Given the description of an element on the screen output the (x, y) to click on. 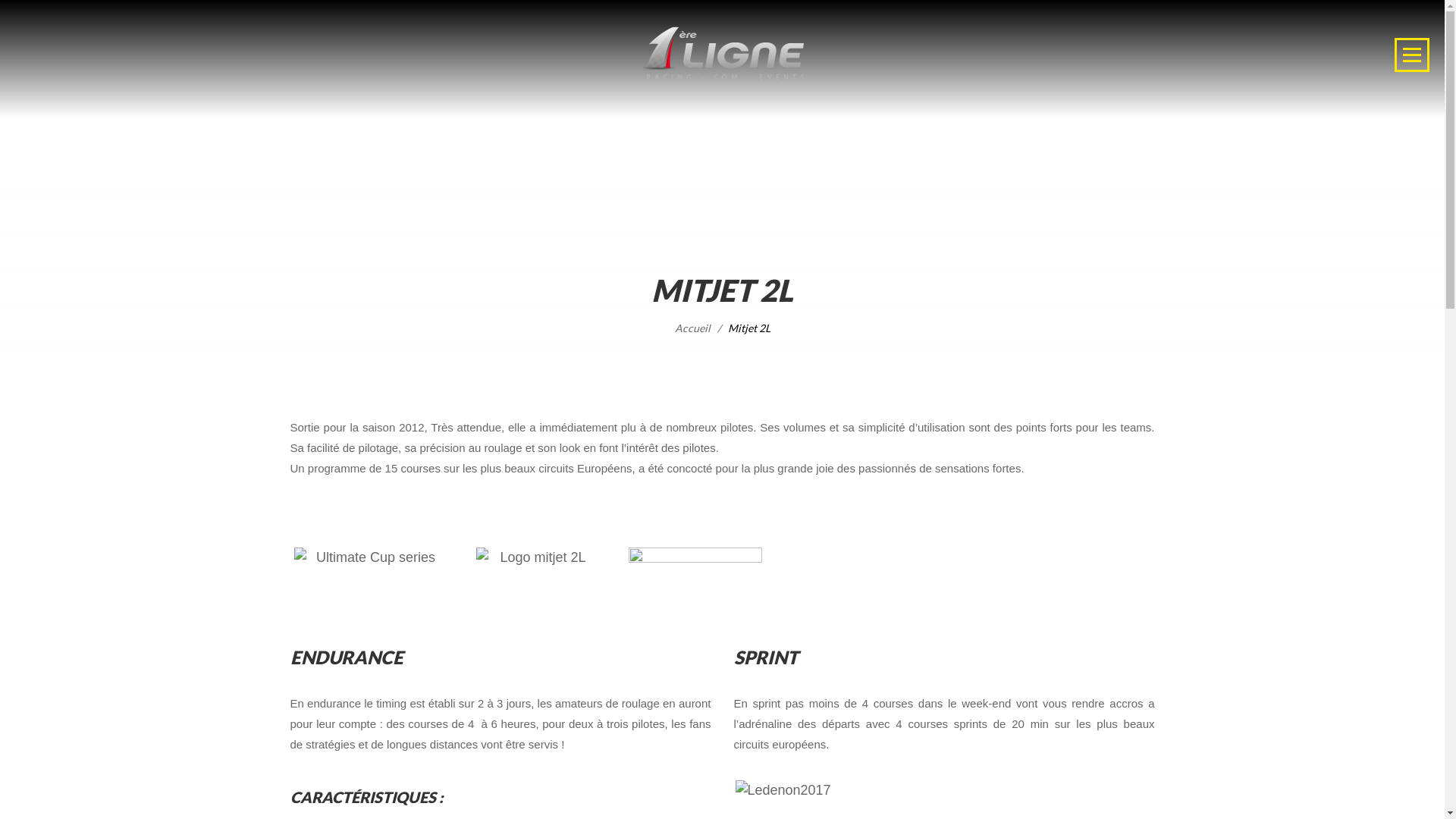
Accueil Element type: text (692, 327)
